Given the description of an element on the screen output the (x, y) to click on. 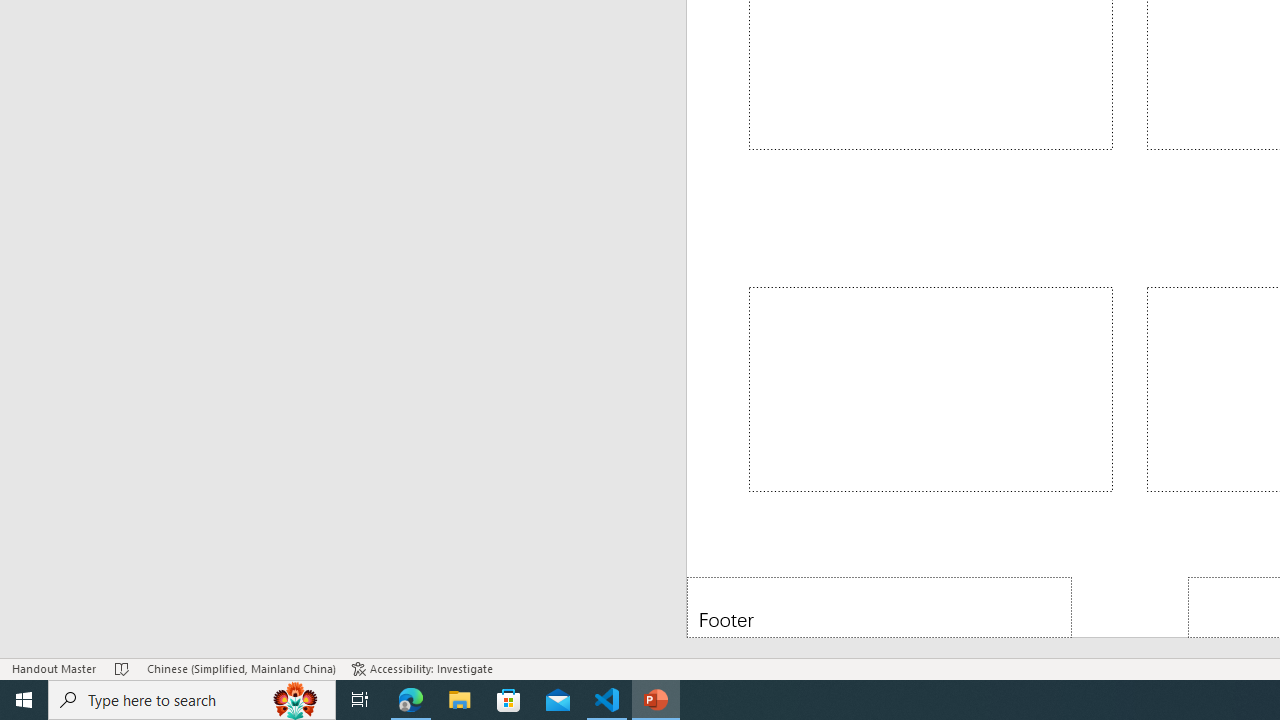
Footer (879, 606)
